Given the description of an element on the screen output the (x, y) to click on. 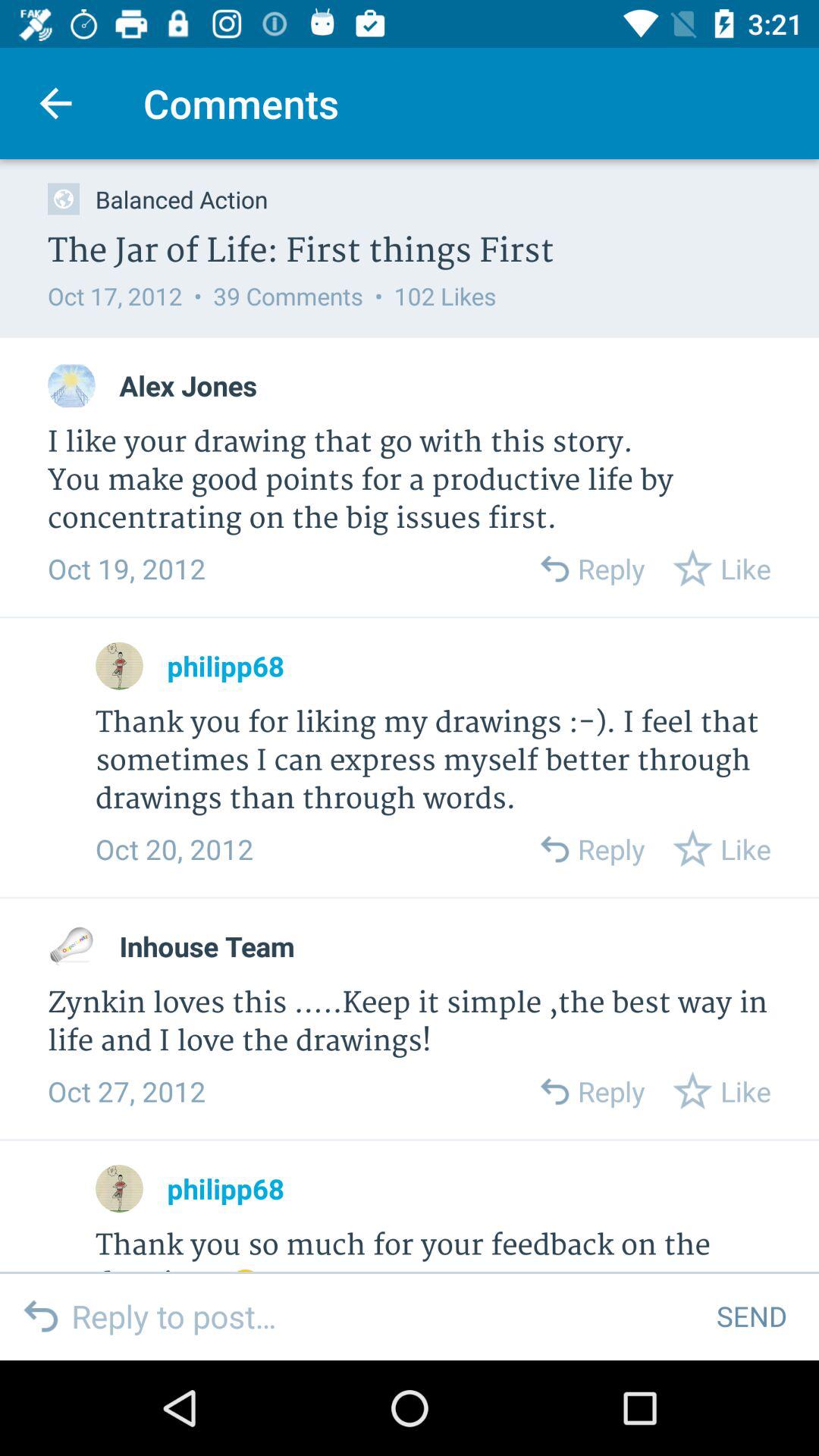
click comment (71, 946)
